Given the description of an element on the screen output the (x, y) to click on. 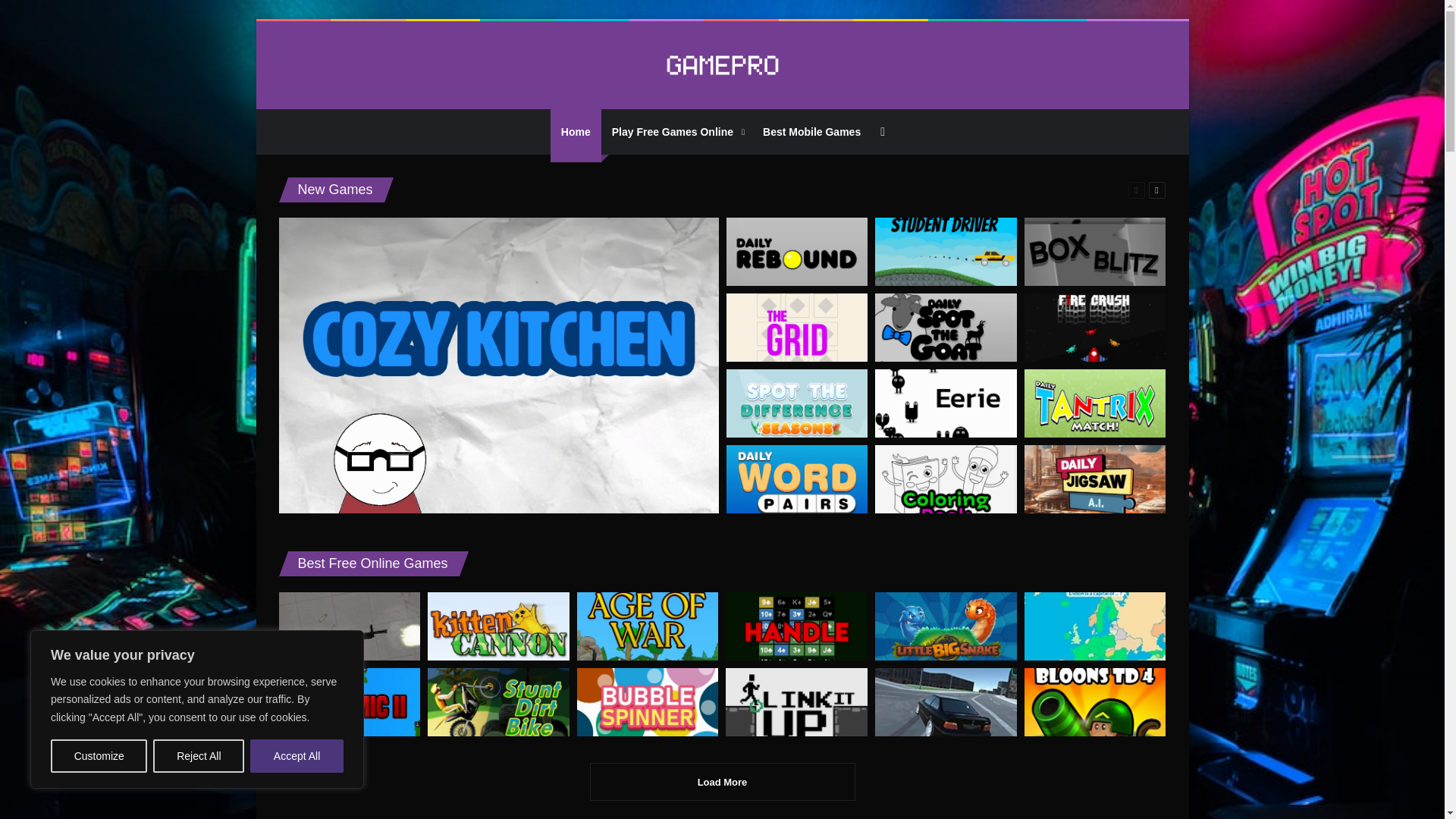
Next page (1156, 190)
Previous page (1136, 190)
Accept All (296, 756)
Best Mobile Games (811, 131)
Home (575, 131)
Play Free Games Online (676, 131)
New Games (334, 189)
Reject All (198, 756)
Customize (98, 756)
GameProGuides (721, 64)
